Given the description of an element on the screen output the (x, y) to click on. 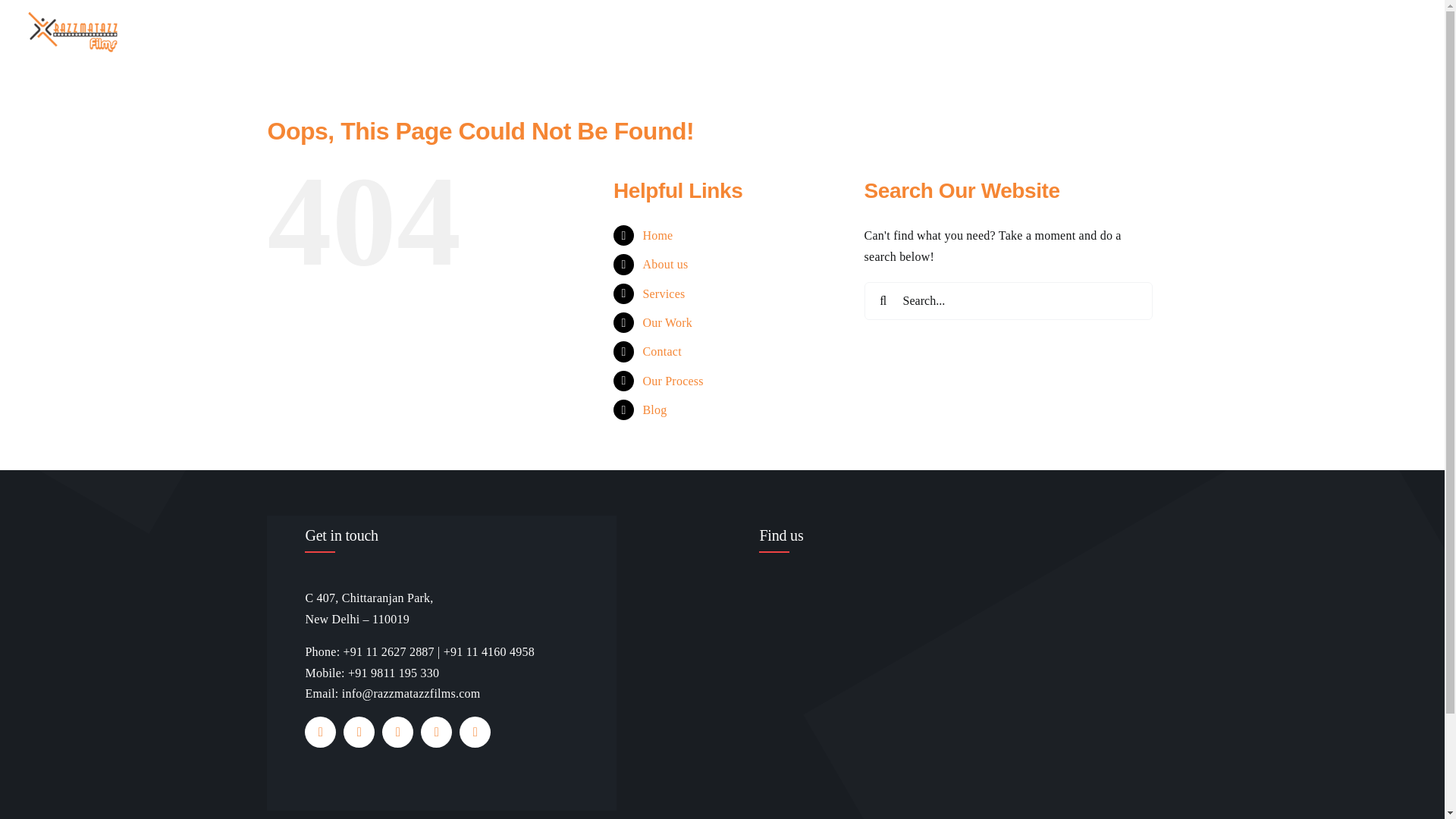
Facebook (320, 731)
Our Process (1330, 31)
Instagram (397, 731)
LinkedIn (475, 731)
Twitter (358, 731)
YouTube (435, 731)
Our Work (1161, 31)
